Given the description of an element on the screen output the (x, y) to click on. 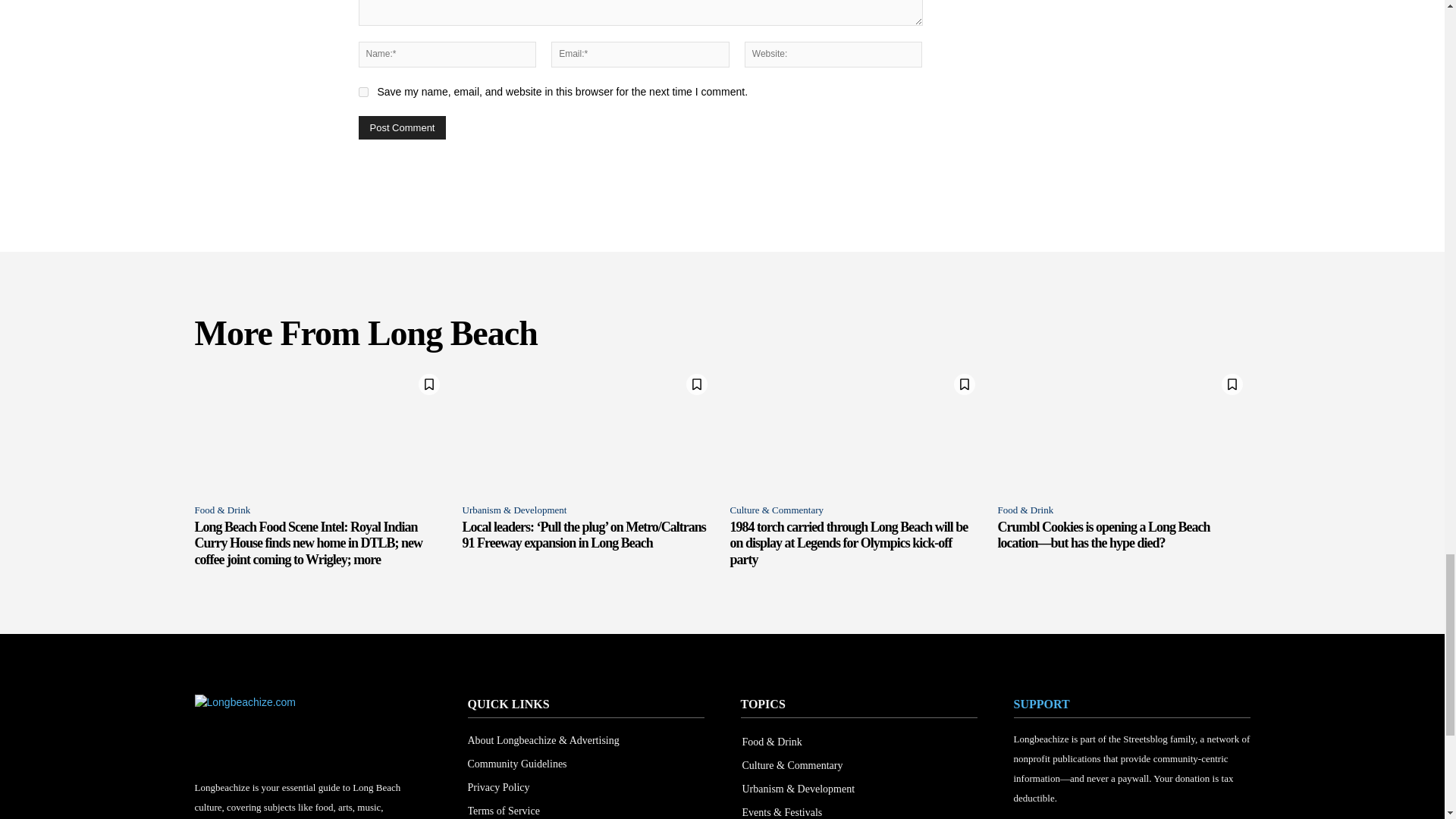
yes (363, 91)
Post Comment (401, 127)
